Given the description of an element on the screen output the (x, y) to click on. 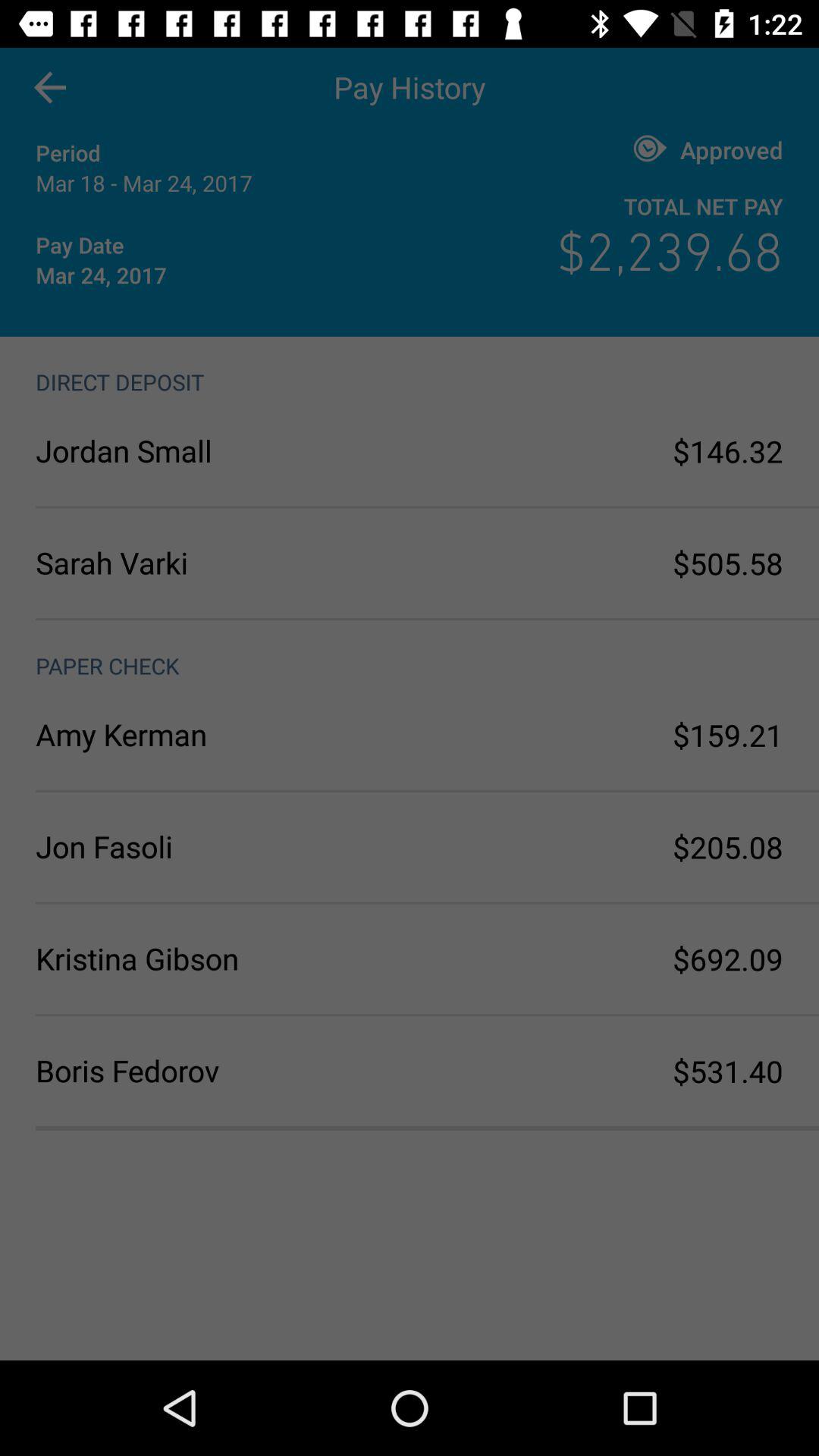
swipe to boris fedorov icon (222, 1070)
